Given the description of an element on the screen output the (x, y) to click on. 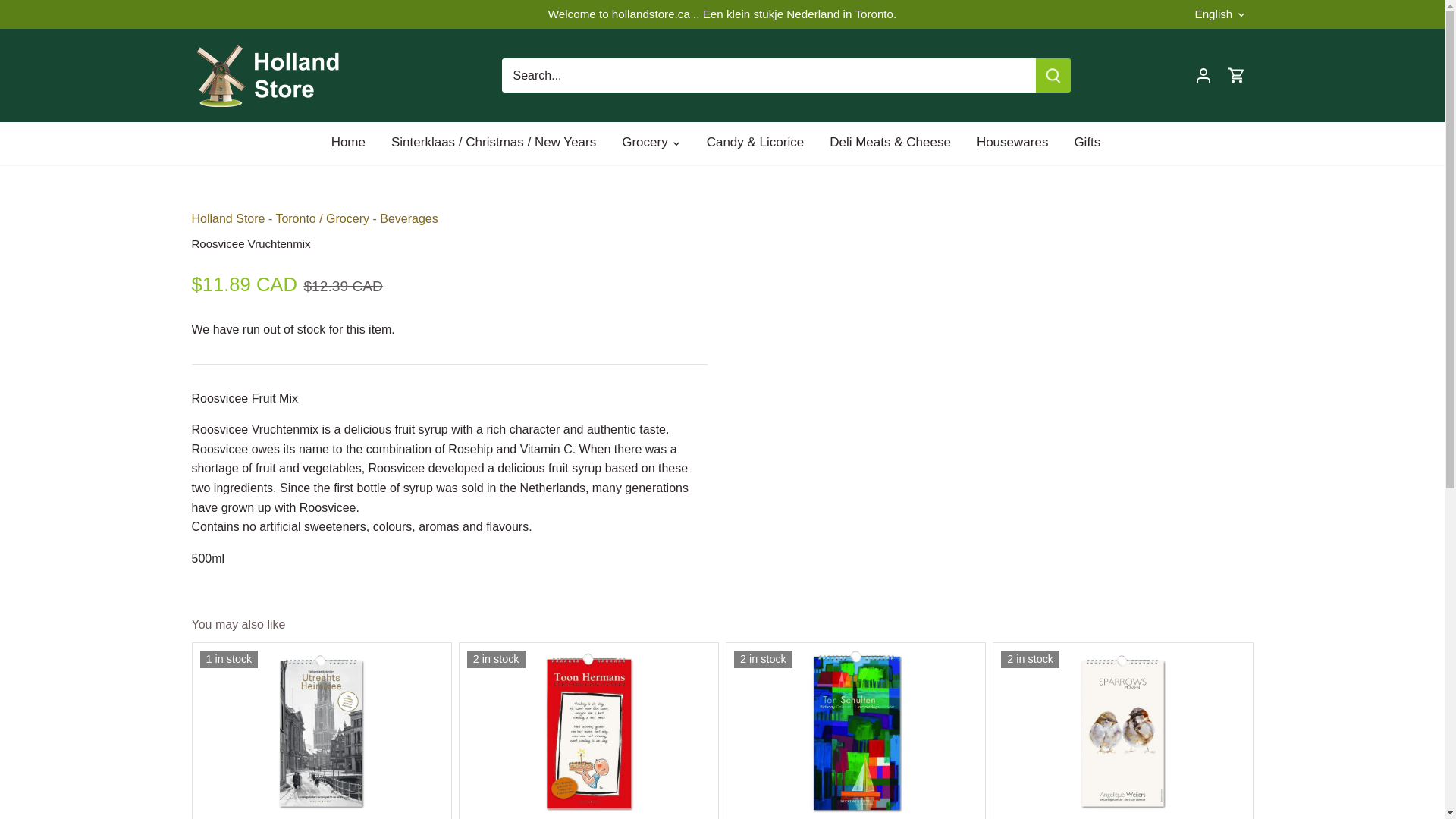
Holland Store - Toronto (252, 218)
Gifts (1087, 143)
Home (354, 143)
Housewares (1012, 143)
Go to cart (1235, 75)
English (1221, 14)
Grocery - Beverages (382, 218)
Grocery (643, 143)
